Given the description of an element on the screen output the (x, y) to click on. 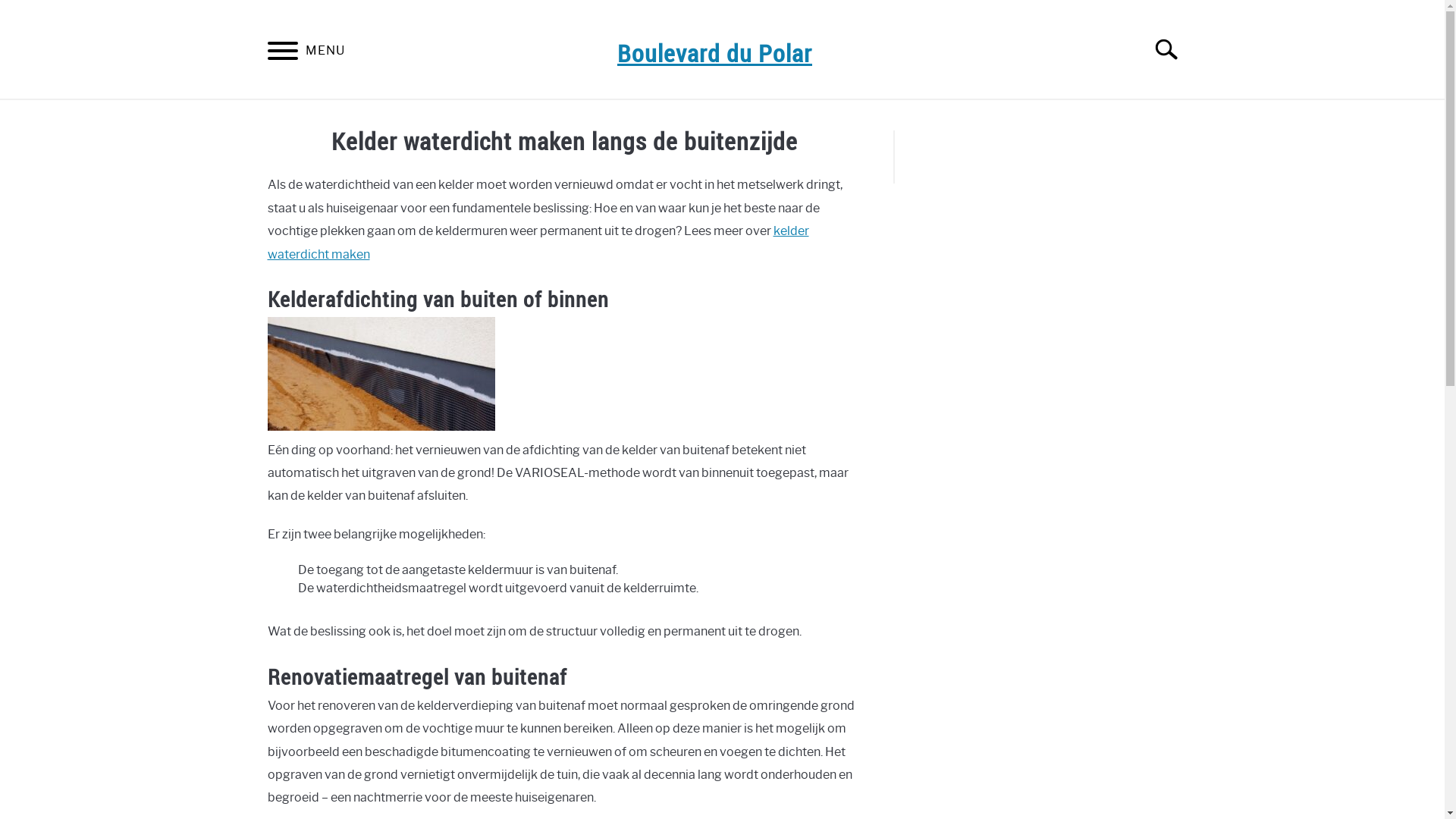
kelder waterdicht maken Element type: text (537, 241)
Boulevard du Polar Element type: text (714, 52)
MENU Element type: text (281, 53)
Search Element type: text (1173, 48)
